Given the description of an element on the screen output the (x, y) to click on. 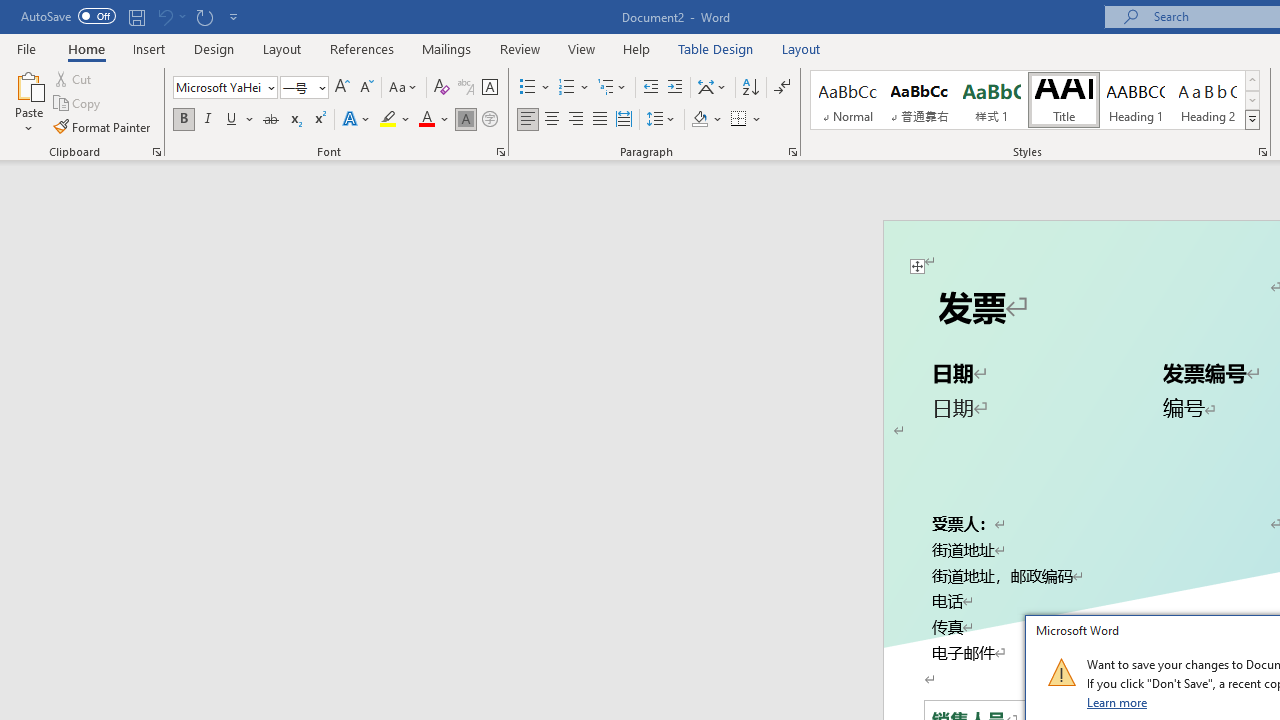
Font Color RGB(255, 0, 0) (426, 119)
